Given the description of an element on the screen output the (x, y) to click on. 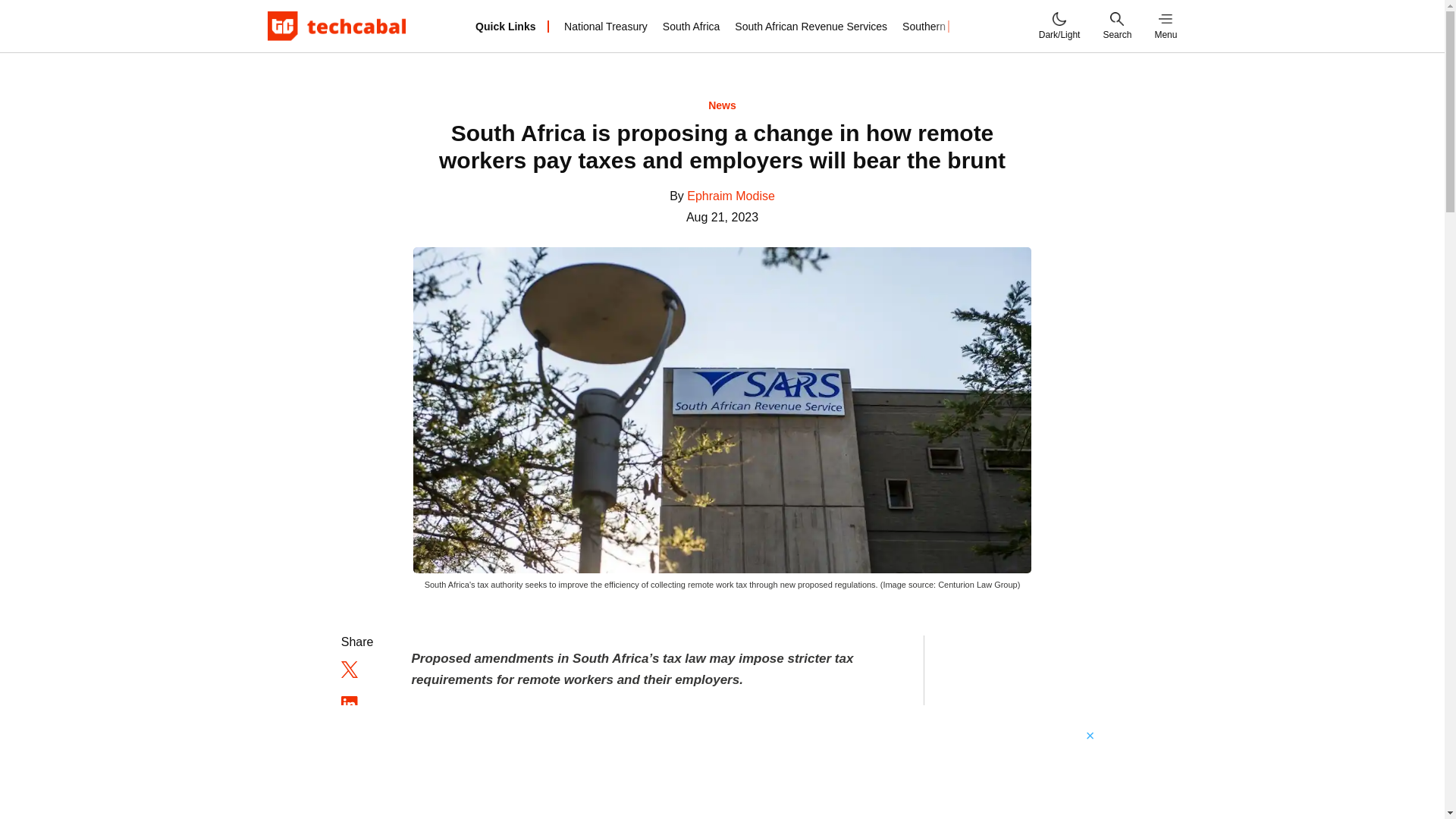
Posts by Ephraim Modise (730, 195)
National Treasury (605, 25)
Search (1116, 26)
South Africa (691, 25)
South African Revenue Services (810, 25)
Southern Africa (938, 25)
